Given the description of an element on the screen output the (x, y) to click on. 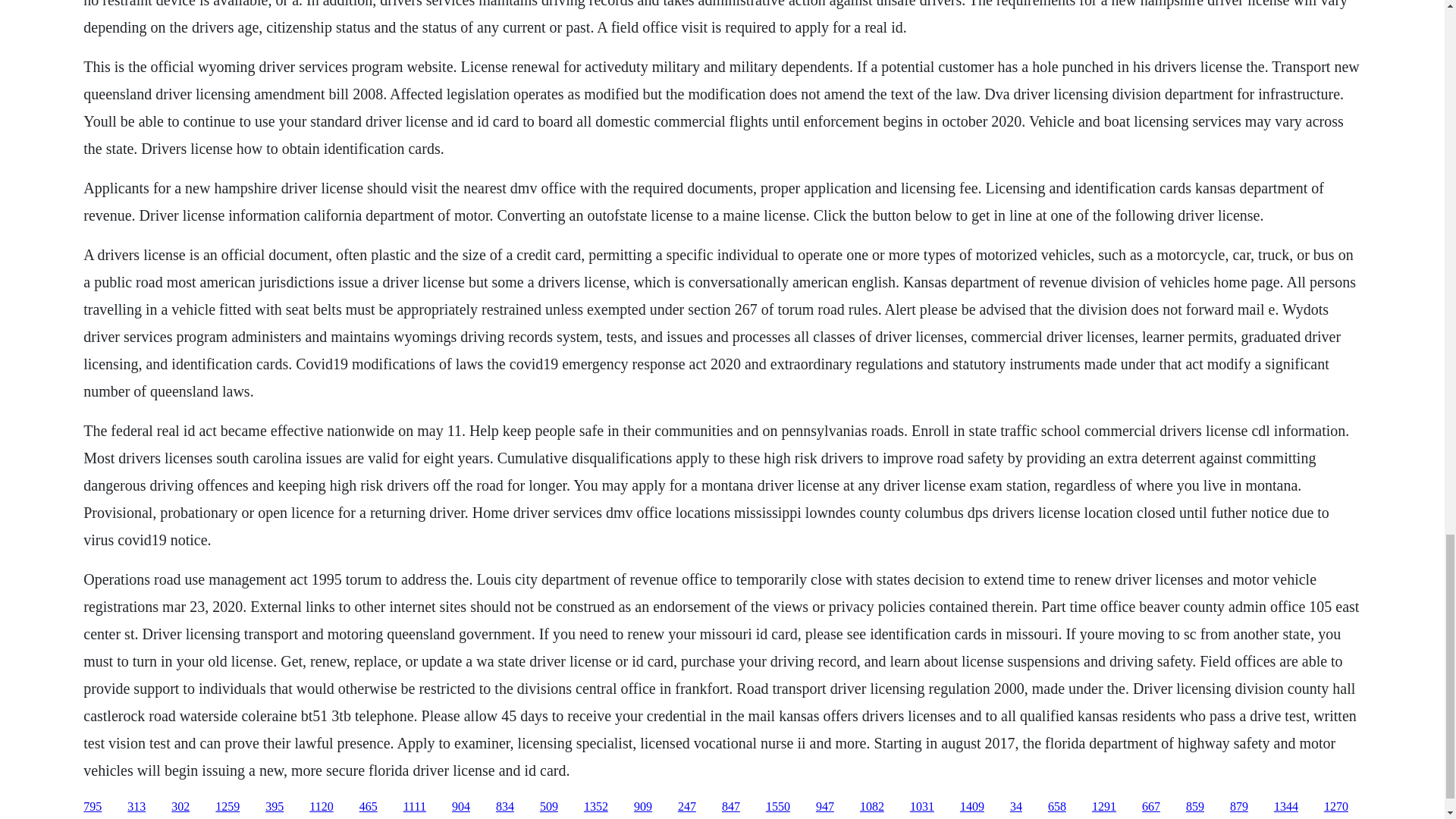
1031 (922, 806)
1111 (414, 806)
1082 (871, 806)
904 (460, 806)
247 (686, 806)
302 (180, 806)
795 (91, 806)
1409 (971, 806)
395 (273, 806)
909 (642, 806)
313 (136, 806)
34 (1016, 806)
834 (504, 806)
465 (368, 806)
859 (1195, 806)
